Given the description of an element on the screen output the (x, y) to click on. 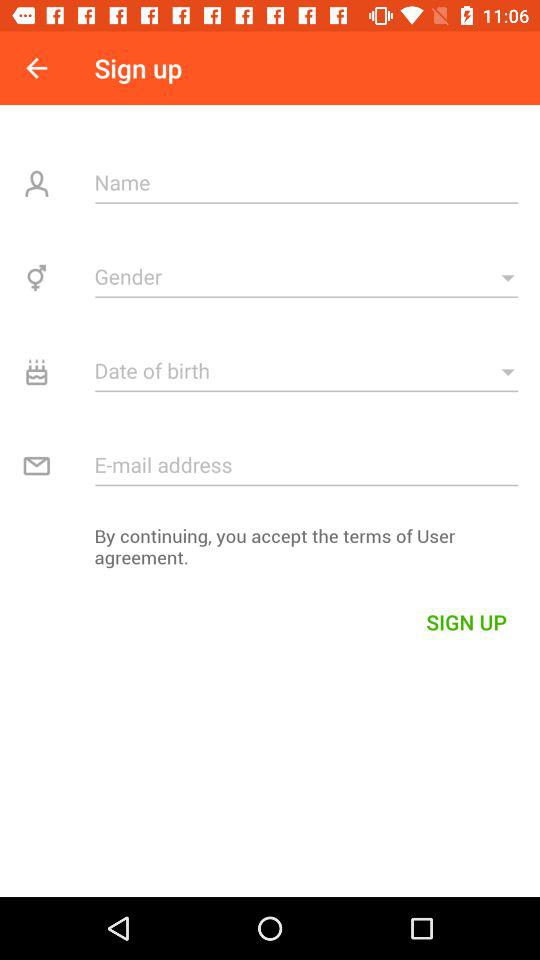
insert name (306, 182)
